Given the description of an element on the screen output the (x, y) to click on. 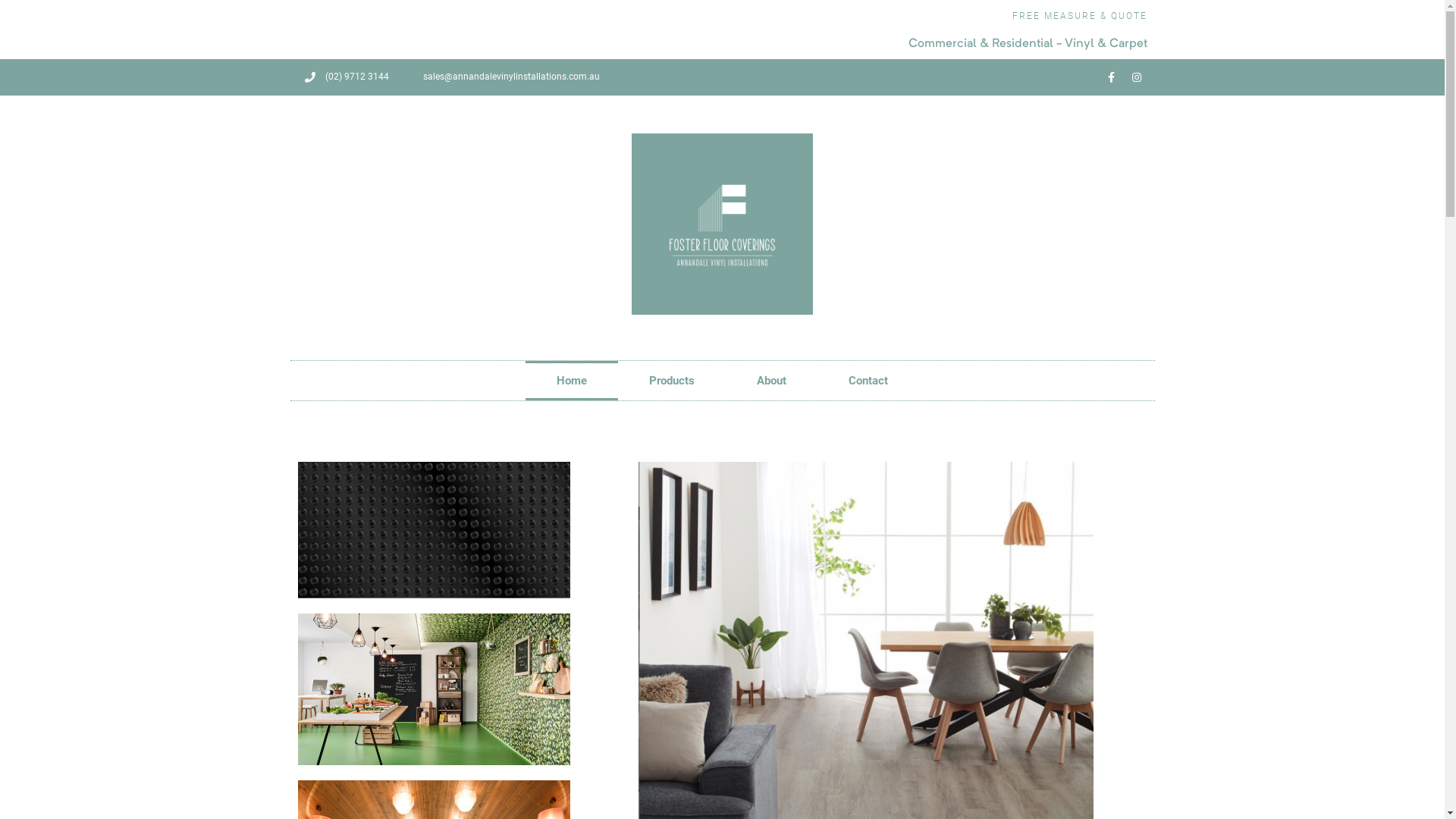
Products Element type: text (671, 380)
About Element type: text (771, 380)
Home Element type: text (571, 380)
Contact Element type: text (868, 380)
